Given the description of an element on the screen output the (x, y) to click on. 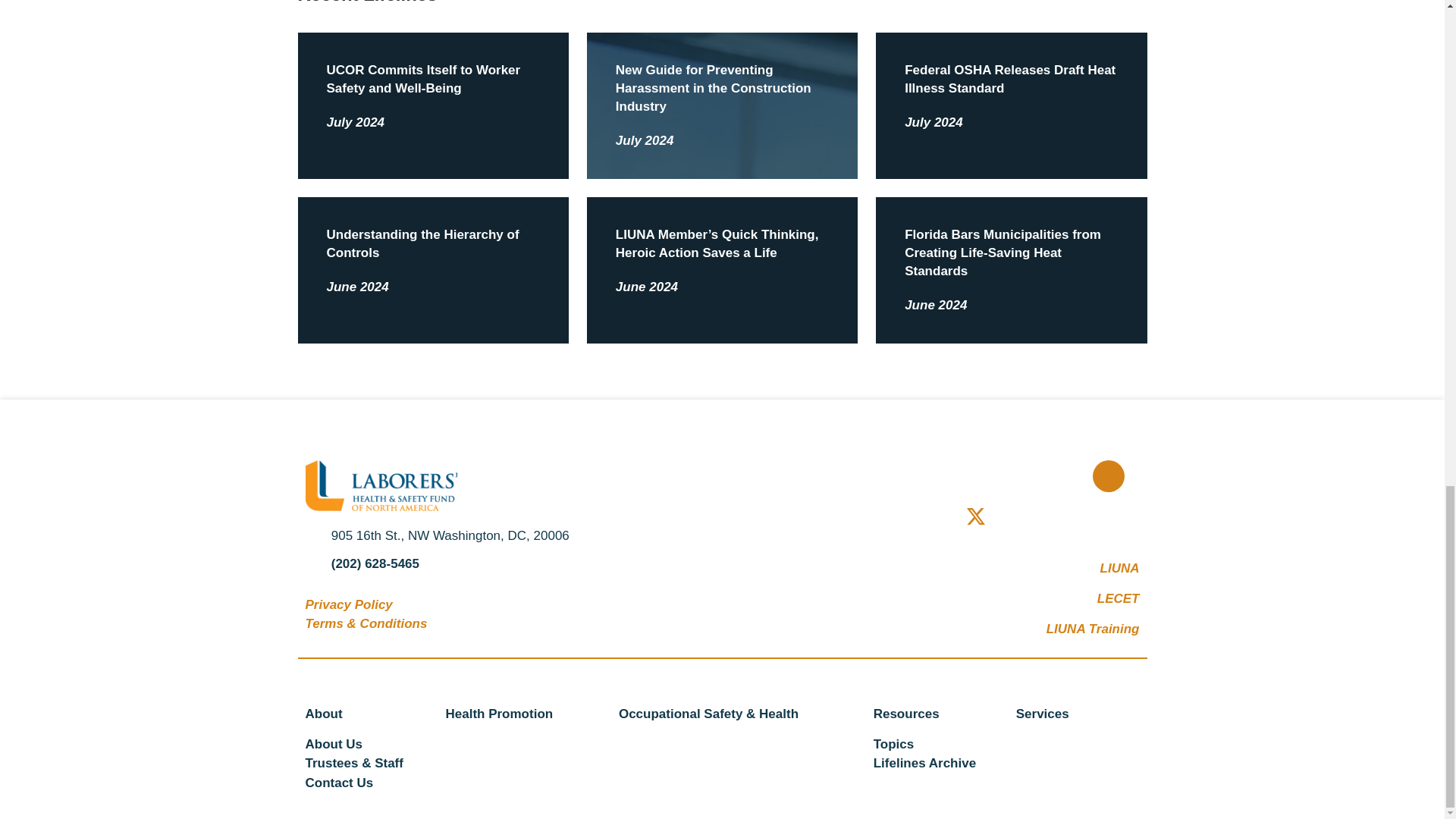
UCOR Commits Itself to Worker Safety and Well-Being (422, 79)
Understanding the Hierarchy of Controls (422, 243)
Federal OSHA Releases Draft Heat Illness Standard (1009, 79)
